Given the description of an element on the screen output the (x, y) to click on. 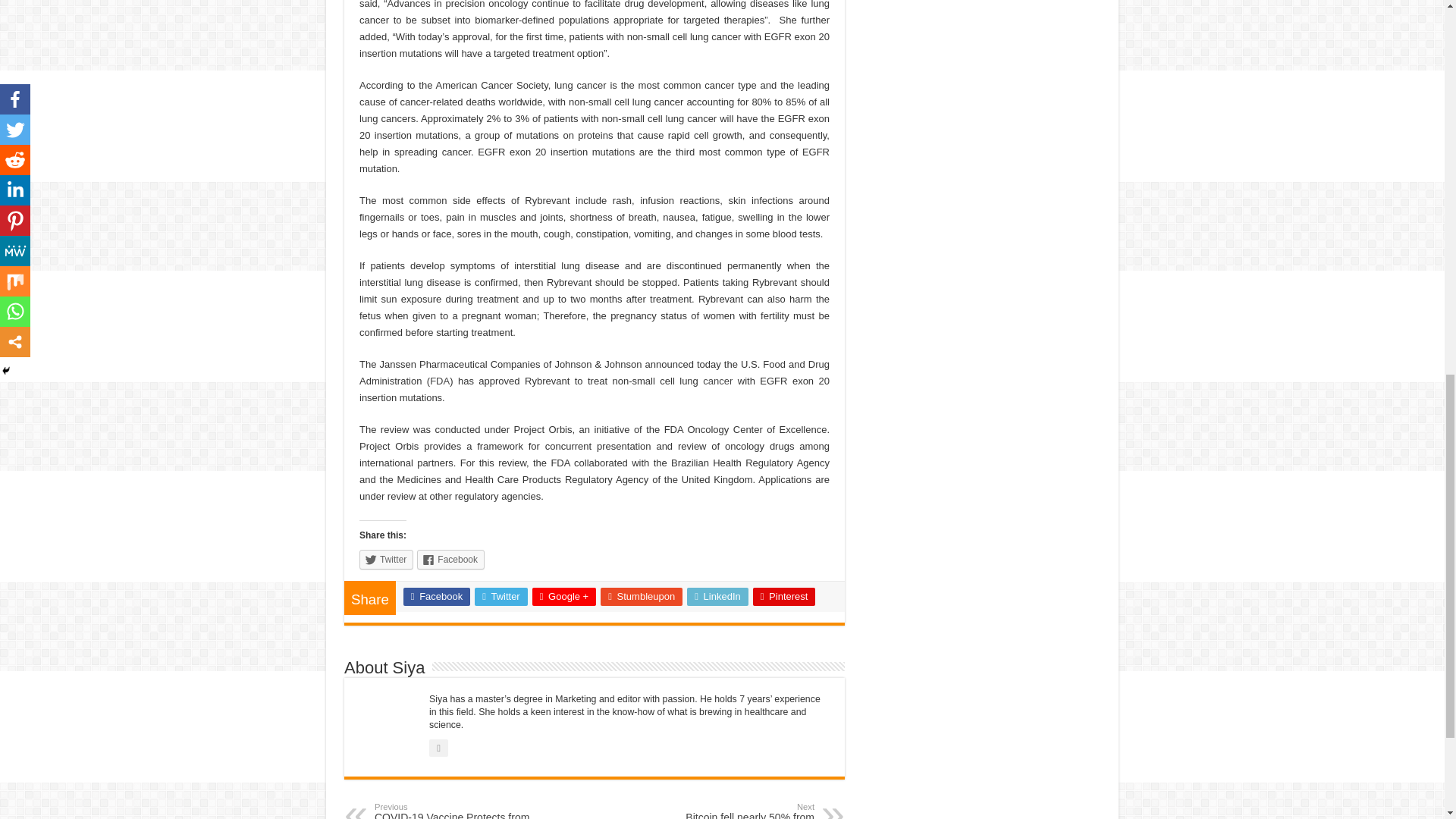
Twitter (386, 559)
Facebook (450, 559)
cancer (717, 380)
FDA (439, 380)
